Given the description of an element on the screen output the (x, y) to click on. 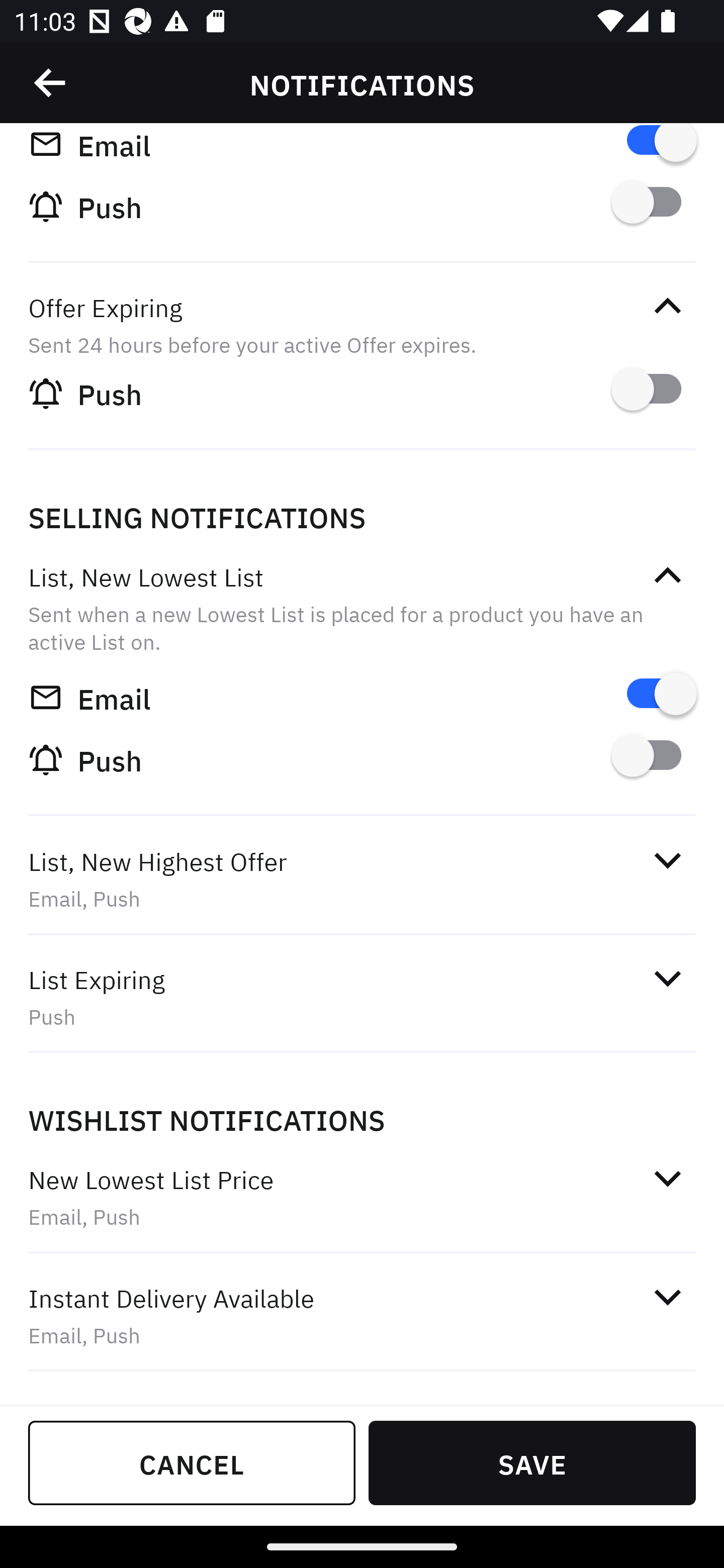
 (50, 83)
󰇰 Email 󰂟 Push (361, 194)
 (667, 306)
 (667, 575)
List, New Highest Offer  Email, Push (361, 879)
 (667, 859)
List Expiring  Push (361, 996)
 (667, 978)
New Lowest List Price  Email, Push (361, 1197)
 (667, 1178)
Instant Delivery Available  Email, Push (361, 1316)
 (667, 1297)
CANCEL (191, 1462)
SAVE (531, 1462)
